Given the description of an element on the screen output the (x, y) to click on. 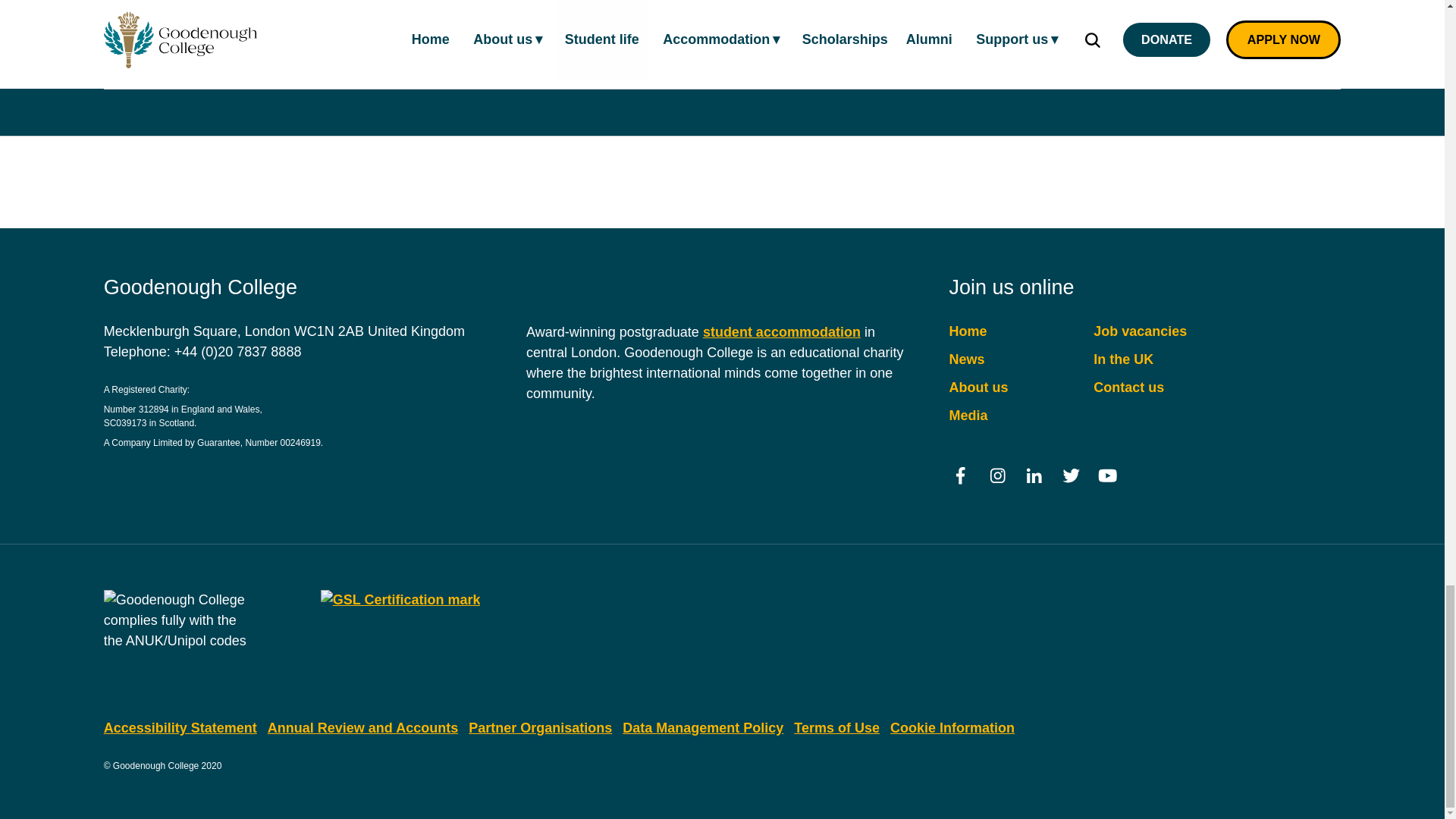
VisualV1 - ArrowCreated with Sketch. (222, 15)
